Given the description of an element on the screen output the (x, y) to click on. 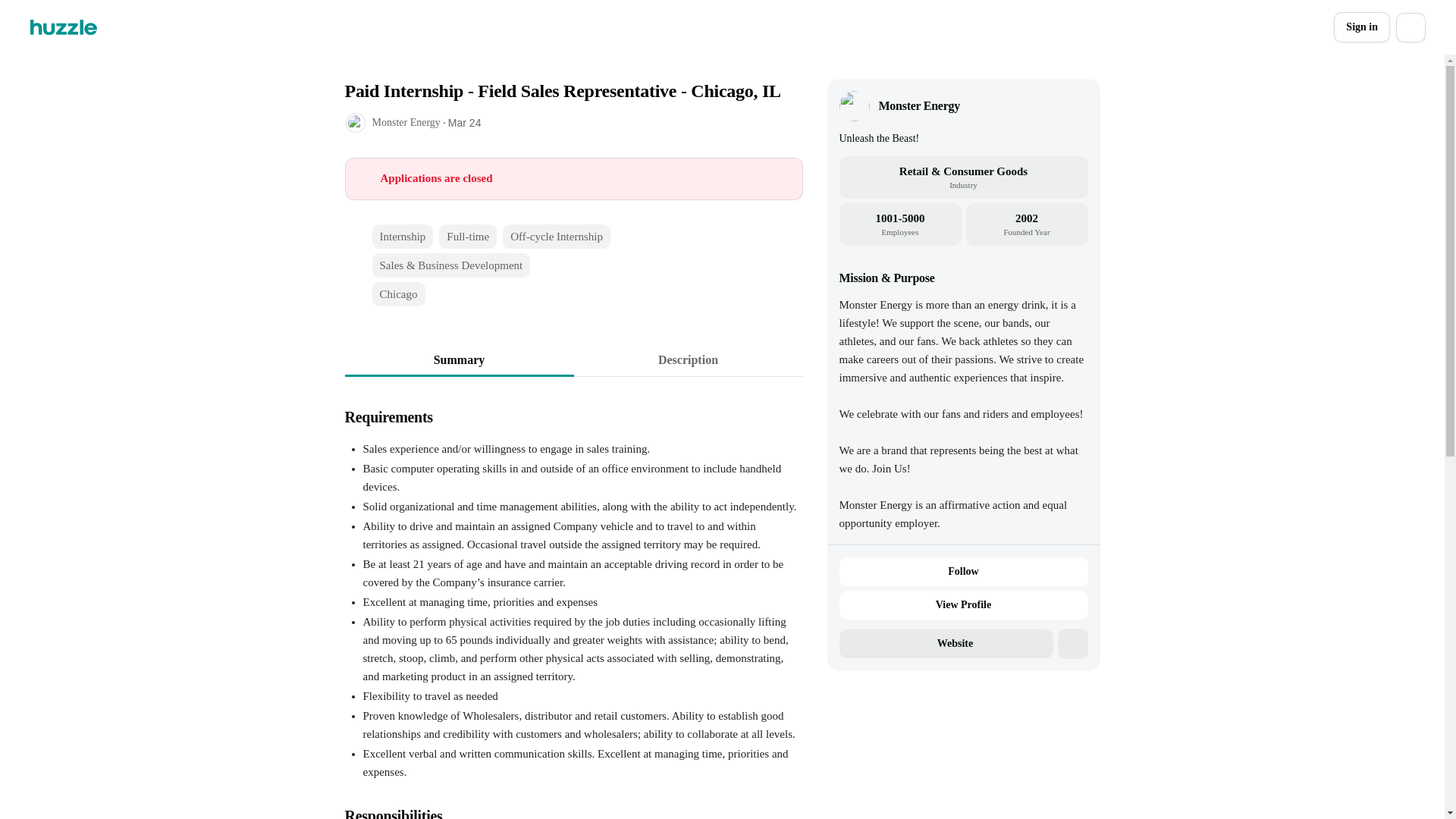
Follow (962, 571)
Monster Energy (405, 122)
Summary (458, 359)
Description (687, 359)
Monster Energy (918, 105)
Website (945, 643)
View Profile (962, 604)
Sign in (1361, 27)
